Given the description of an element on the screen output the (x, y) to click on. 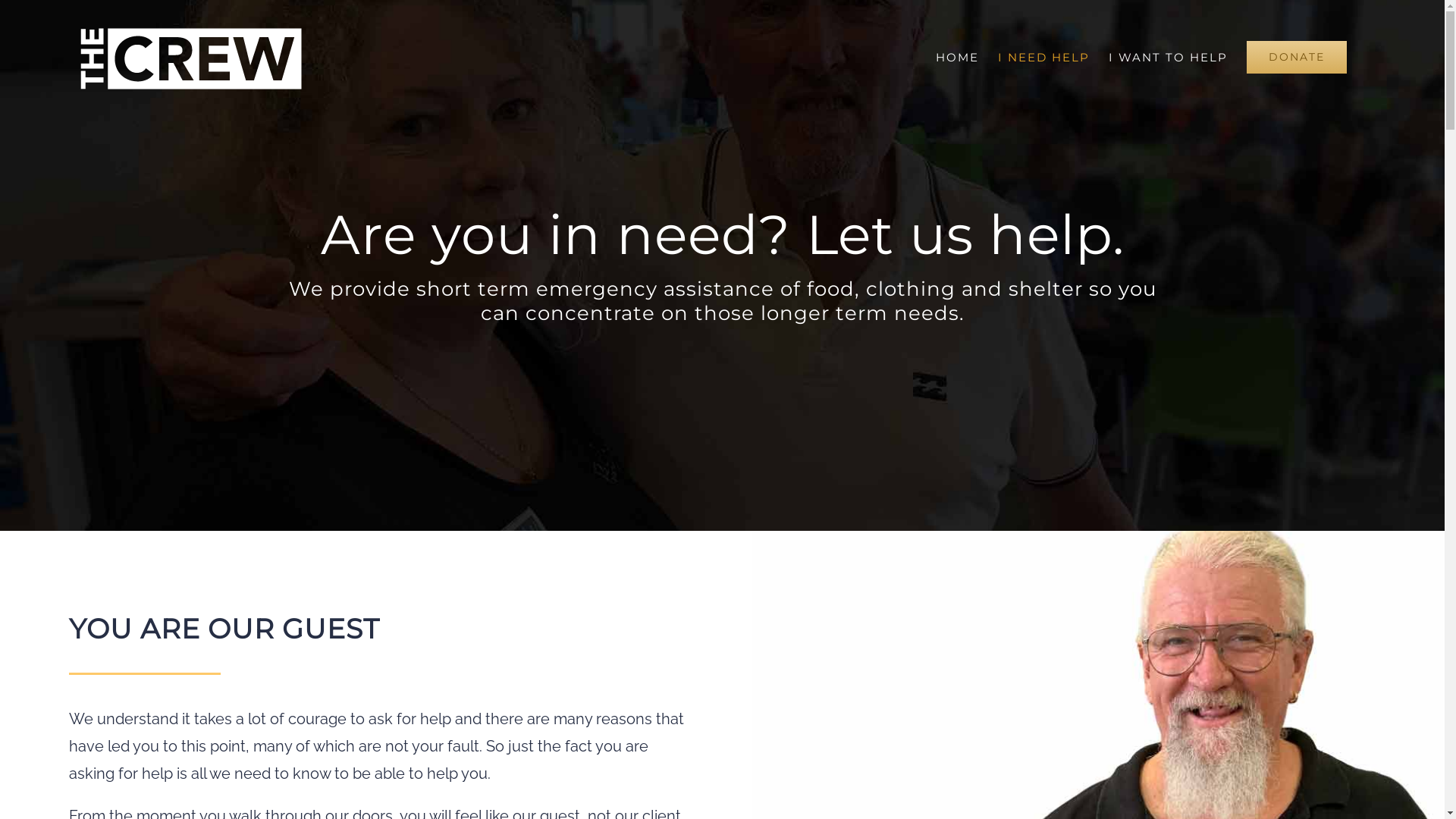
I WANT TO HELP Element type: text (1167, 56)
DONATE Element type: text (1296, 56)
HOME Element type: text (957, 56)
I NEED HELP Element type: text (1043, 56)
